Given the description of an element on the screen output the (x, y) to click on. 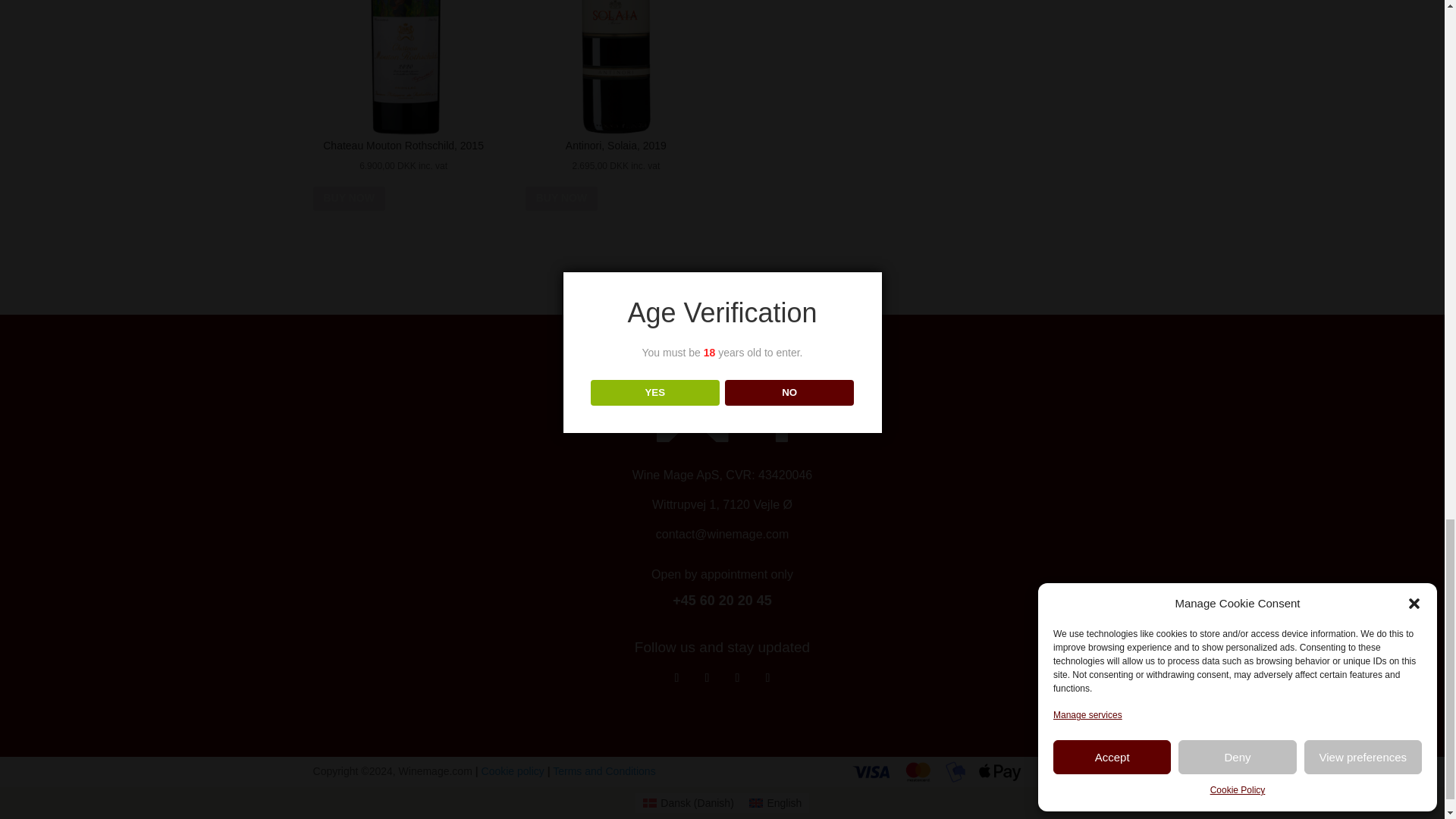
payment logos f (937, 771)
Follow on Instagram (766, 677)
Follow on LinkedIn (706, 677)
Follow on Youtube (737, 677)
Wine Mage logo - with textout - vector - cropped - white (721, 416)
Follow on Facebook (675, 677)
